Given the description of an element on the screen output the (x, y) to click on. 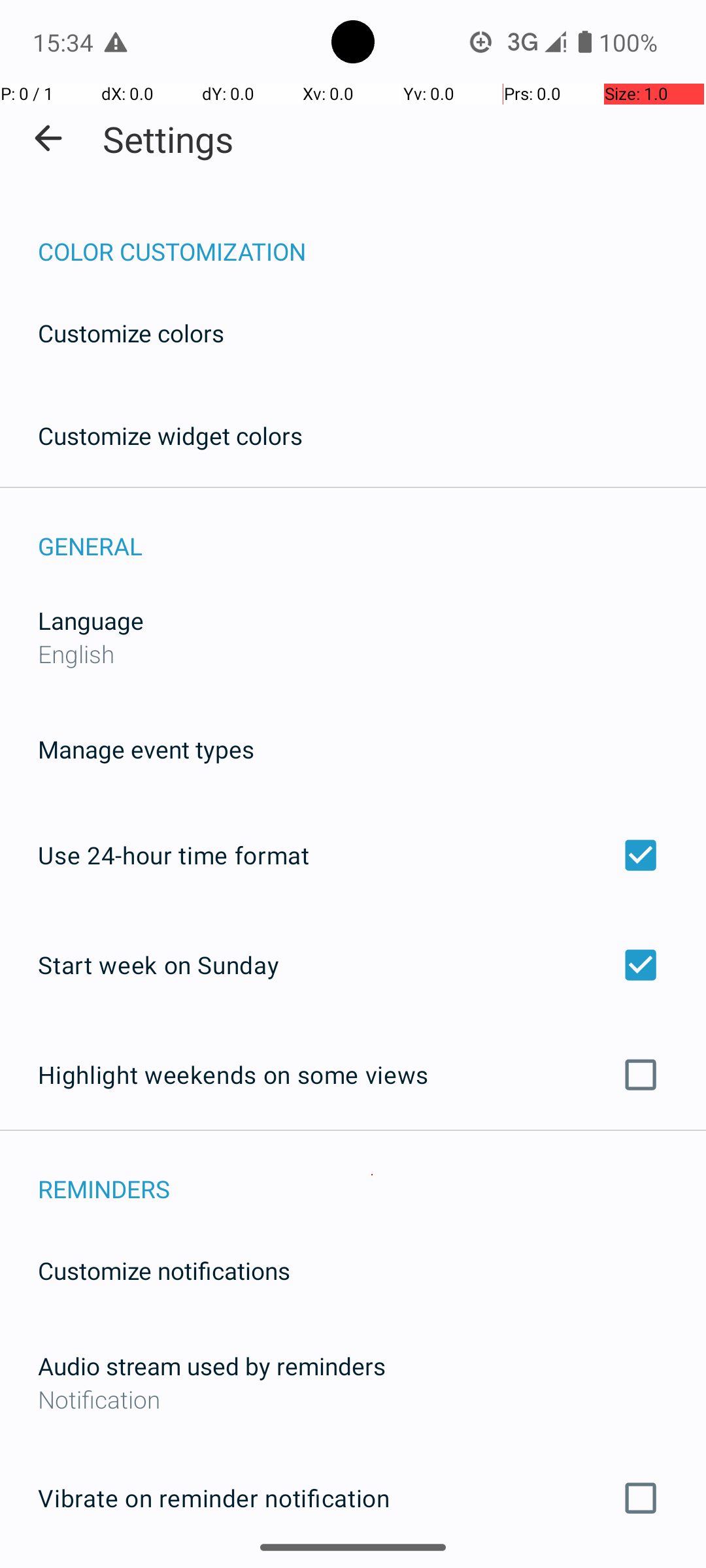
COLOR CUSTOMIZATION Element type: android.widget.TextView (371, 237)
GENERAL Element type: android.widget.TextView (371, 532)
REMINDERS Element type: android.widget.TextView (371, 1174)
Customize colors Element type: android.widget.TextView (130, 332)
Customize widget colors Element type: android.widget.TextView (170, 435)
English Element type: android.widget.TextView (75, 653)
Manage event types Element type: android.widget.TextView (145, 748)
Use 24-hour time format Element type: android.widget.CheckBox (352, 855)
Start week on Sunday Element type: android.widget.CheckBox (352, 964)
Highlight weekends on some views Element type: android.widget.CheckBox (352, 1074)
Customize notifications Element type: android.widget.TextView (163, 1270)
Audio stream used by reminders Element type: android.widget.TextView (211, 1365)
Notification Element type: android.widget.TextView (352, 1398)
Vibrate on reminder notification Element type: android.widget.CheckBox (352, 1497)
Loop reminders until dismissed Element type: android.widget.CheckBox (352, 1567)
